Given the description of an element on the screen output the (x, y) to click on. 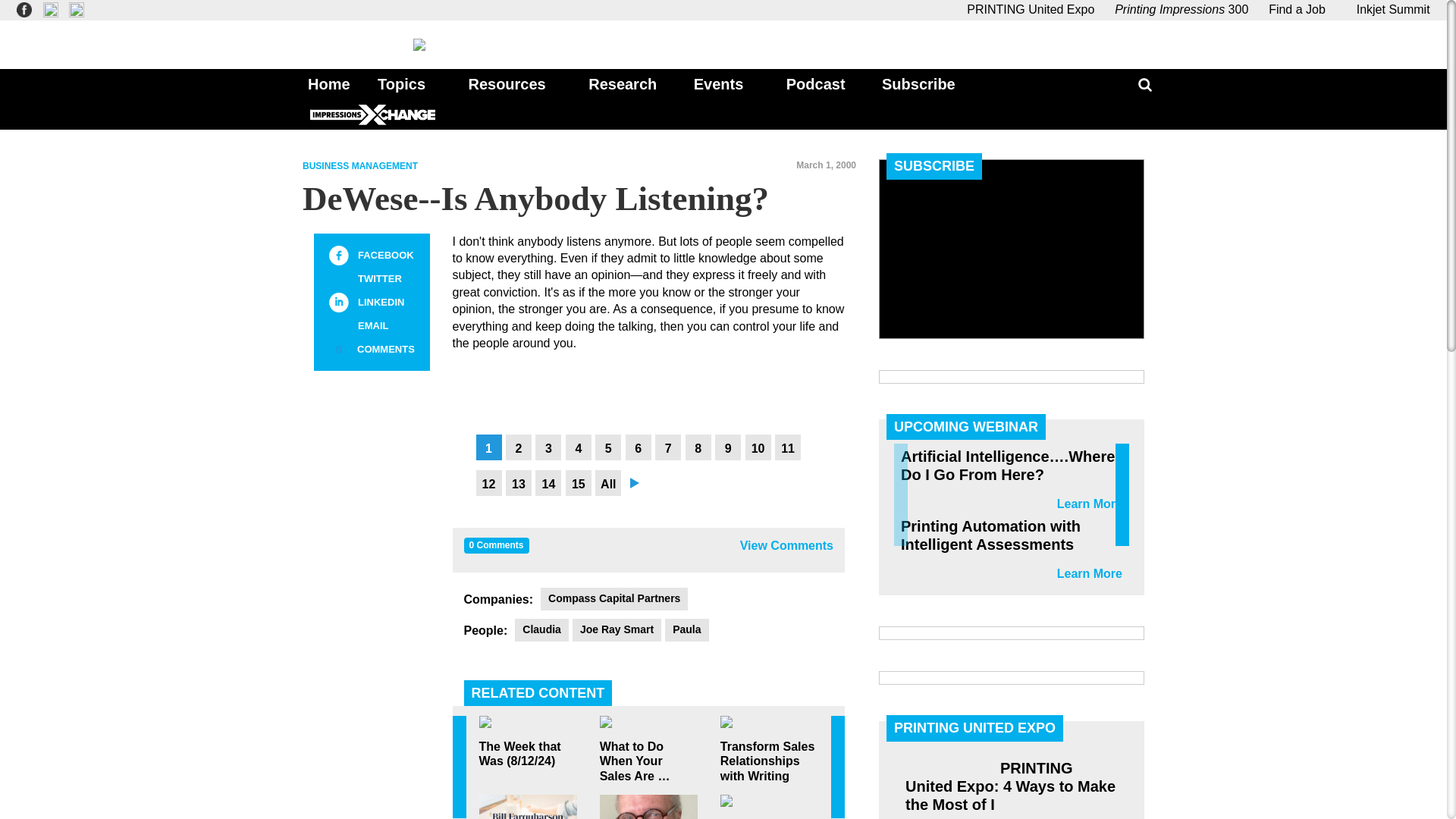
Printing Impressions 300 (1181, 9)
LinkedIn (339, 302)
Facebook (339, 255)
Resources (509, 83)
Home (324, 83)
Inkjet Summit (1387, 9)
Email Link (339, 325)
Topics (404, 83)
Find a Job (1296, 9)
PRINTING United Expo (1030, 9)
